Given the description of an element on the screen output the (x, y) to click on. 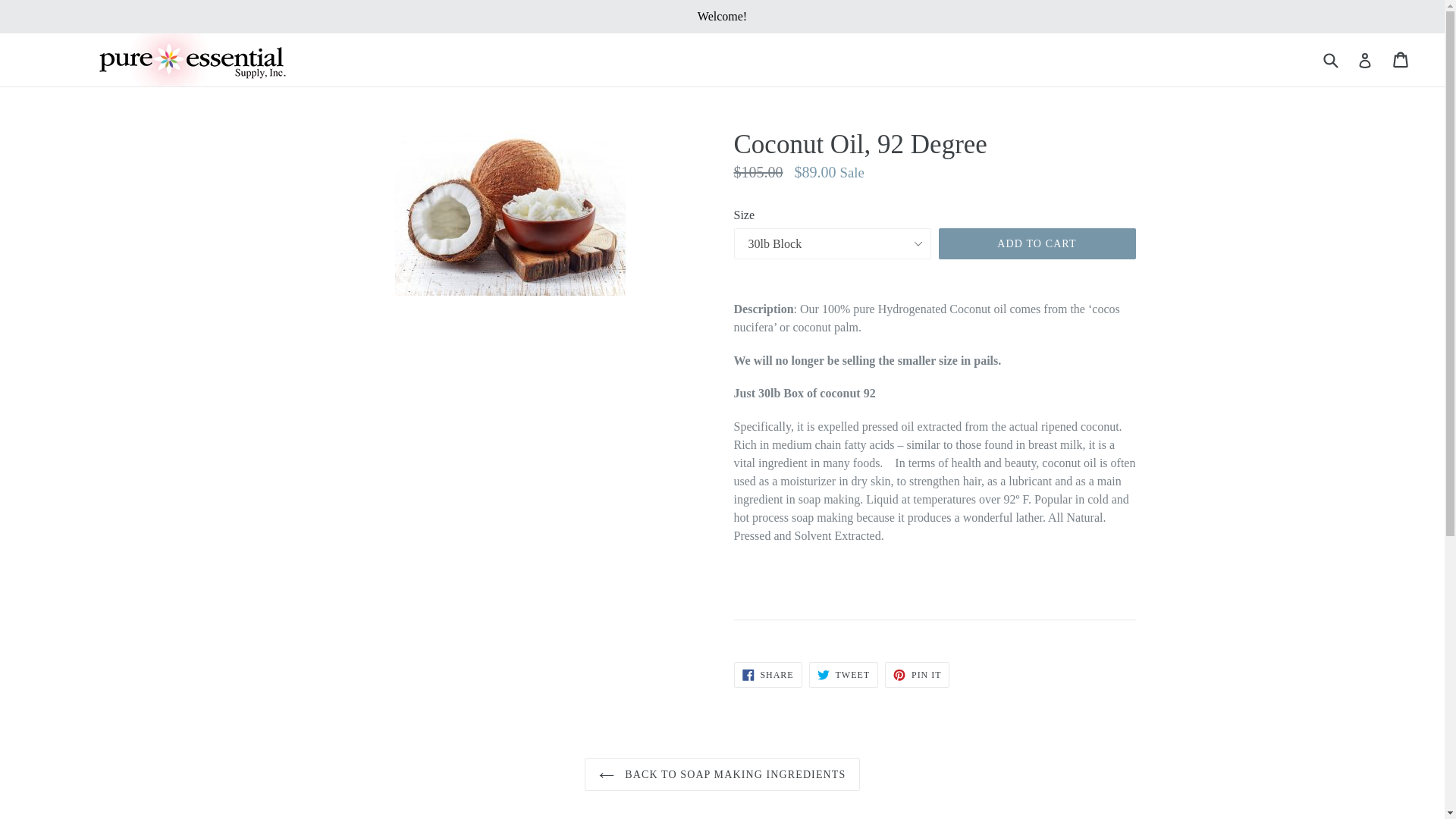
Tweet on Twitter (843, 674)
Pin on Pinterest (917, 674)
Share on Facebook (767, 674)
